Given the description of an element on the screen output the (x, y) to click on. 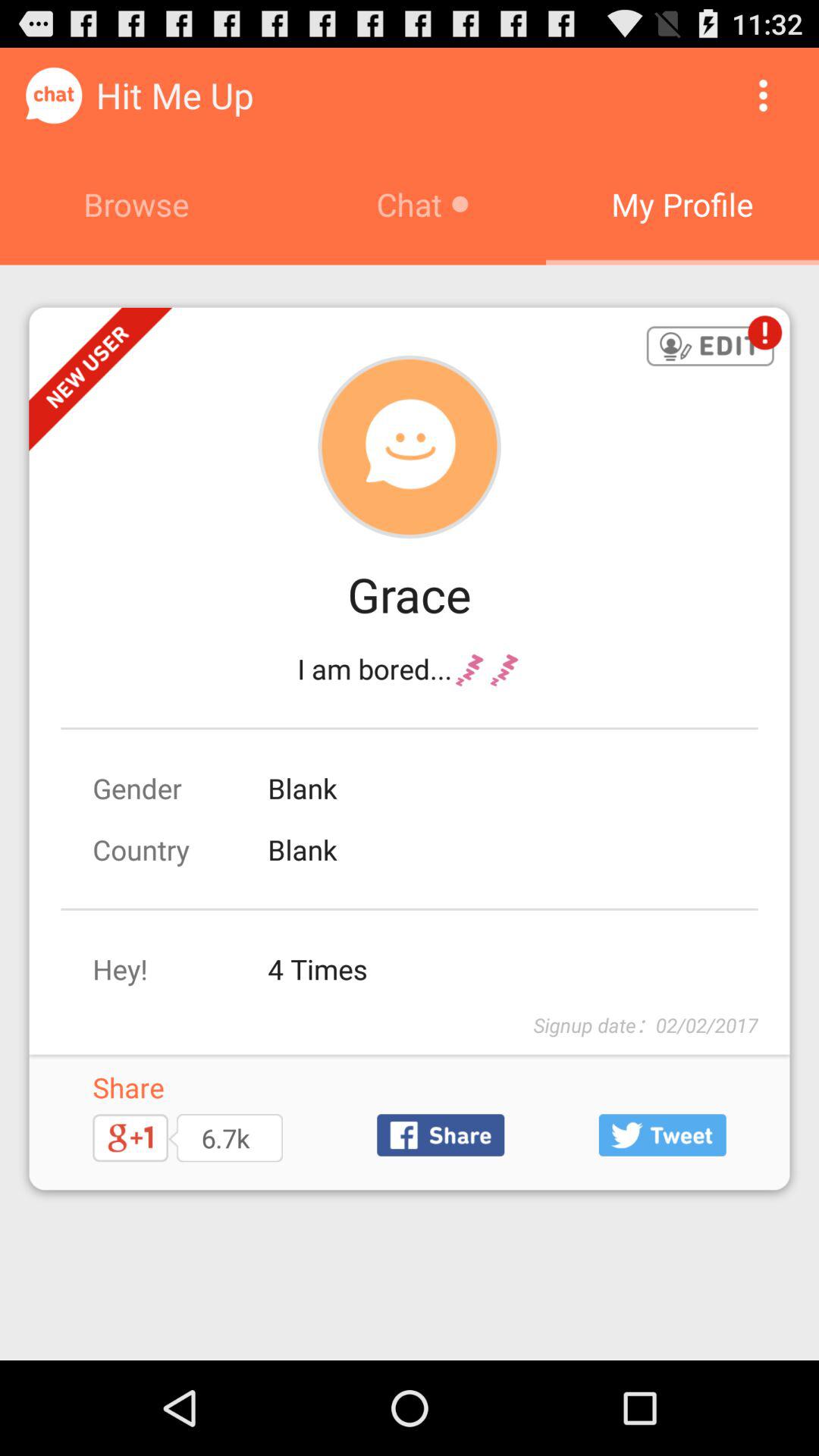
select icon to the left of chat (136, 204)
